Given the description of an element on the screen output the (x, y) to click on. 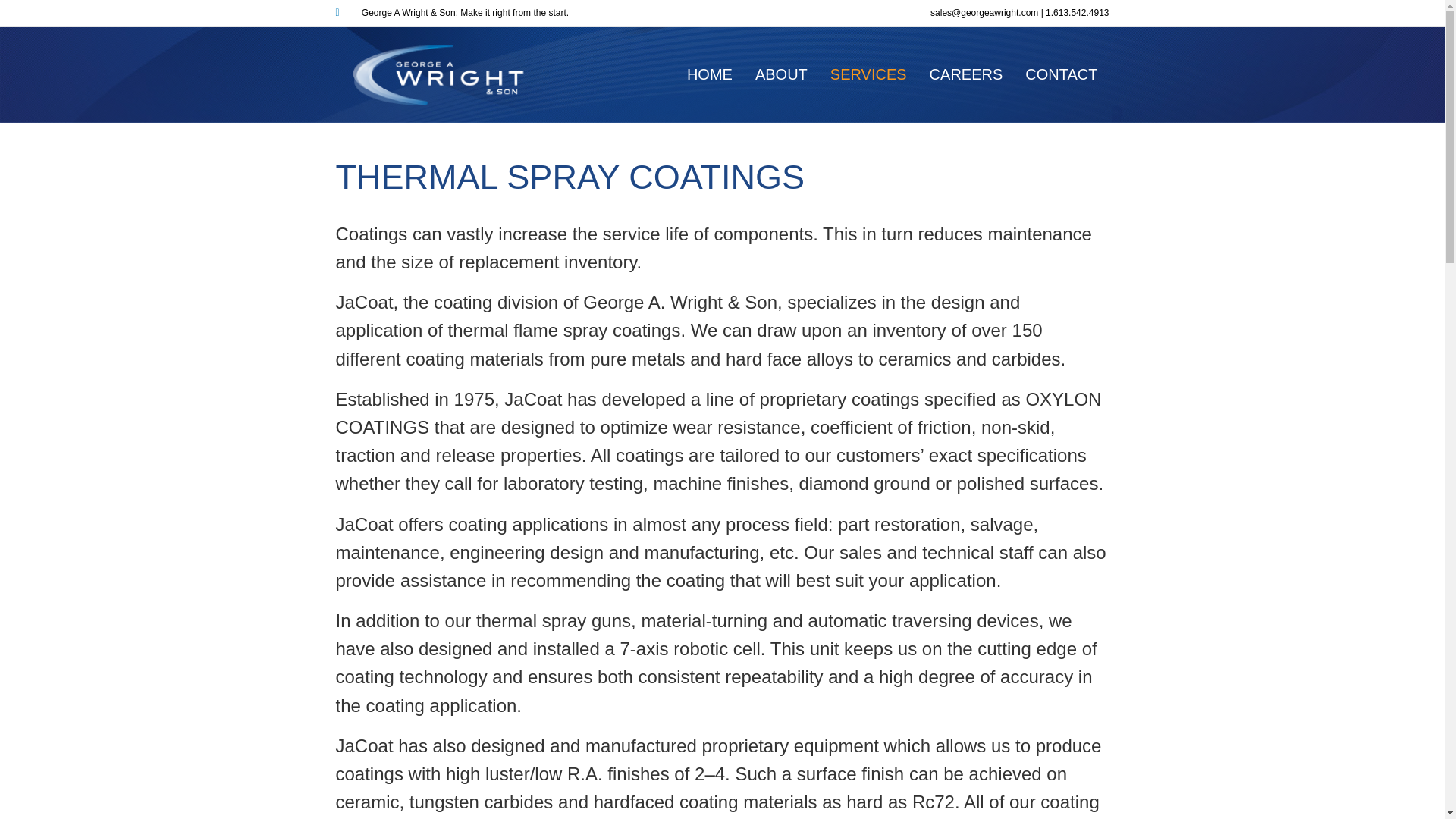
SERVICES (868, 74)
CONTACT (1060, 74)
ABOUT (781, 74)
HOME (709, 74)
Linkedin (343, 11)
CAREERS (966, 74)
